Given the description of an element on the screen output the (x, y) to click on. 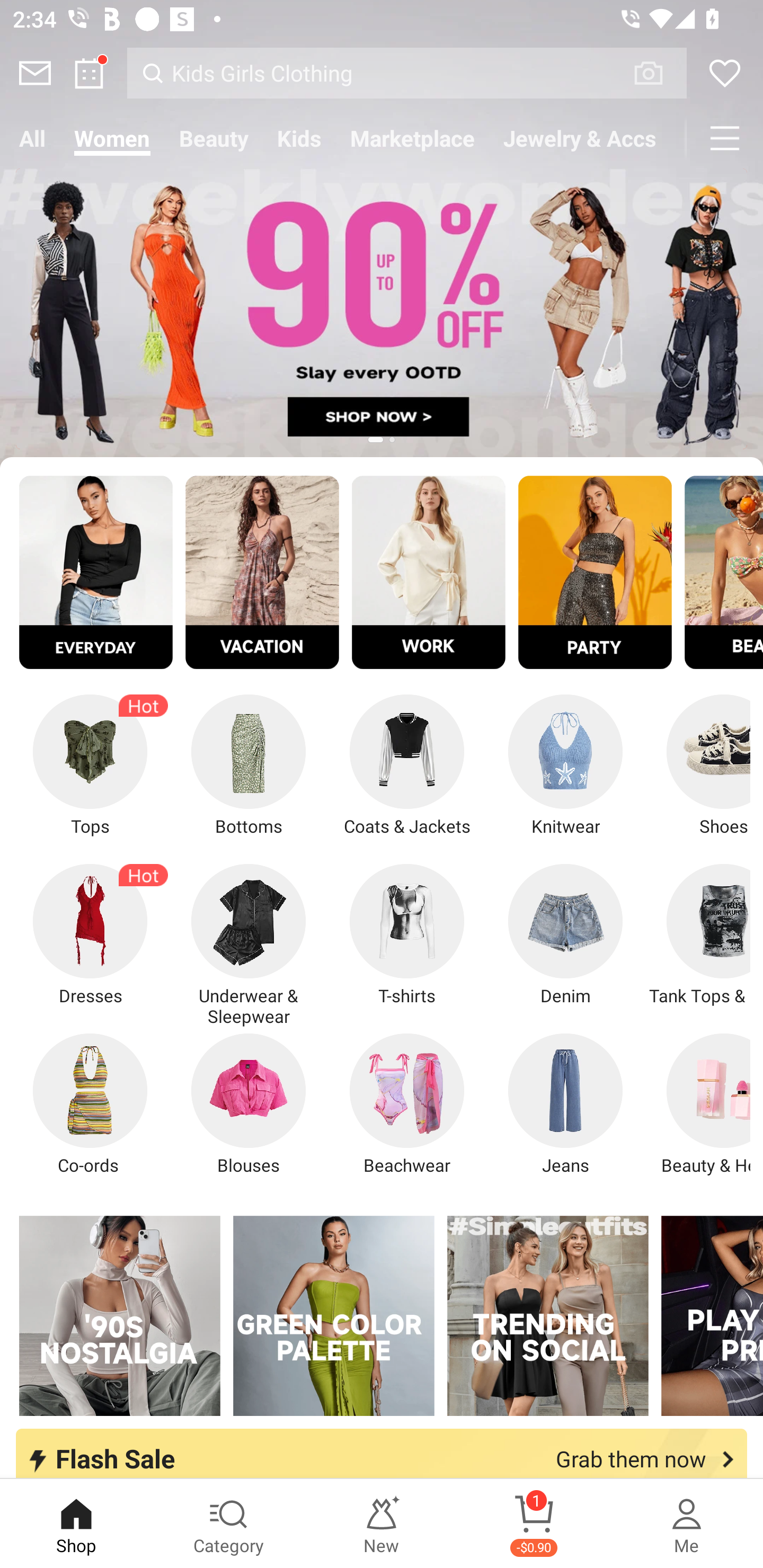
Wishlist (724, 72)
VISUAL SEARCH (657, 72)
All (31, 137)
Women (111, 137)
Beauty (213, 137)
Kids (298, 137)
Marketplace (412, 137)
Jewelry & Accs (580, 137)
Tops (89, 765)
Bottoms (248, 765)
Coats & Jackets (406, 765)
Knitwear (565, 765)
Shoes (698, 765)
Dresses (89, 934)
Underwear & Sleepwear (248, 945)
T-shirts (406, 934)
Denim (565, 934)
Tank Tops & Camis (698, 934)
Co-ords  (89, 1104)
Blouses (248, 1104)
Beachwear (406, 1104)
Jeans (565, 1104)
Beauty & Health (698, 1104)
Category (228, 1523)
New (381, 1523)
Cart 1 -$0.90 (533, 1523)
Me (686, 1523)
